Given the description of an element on the screen output the (x, y) to click on. 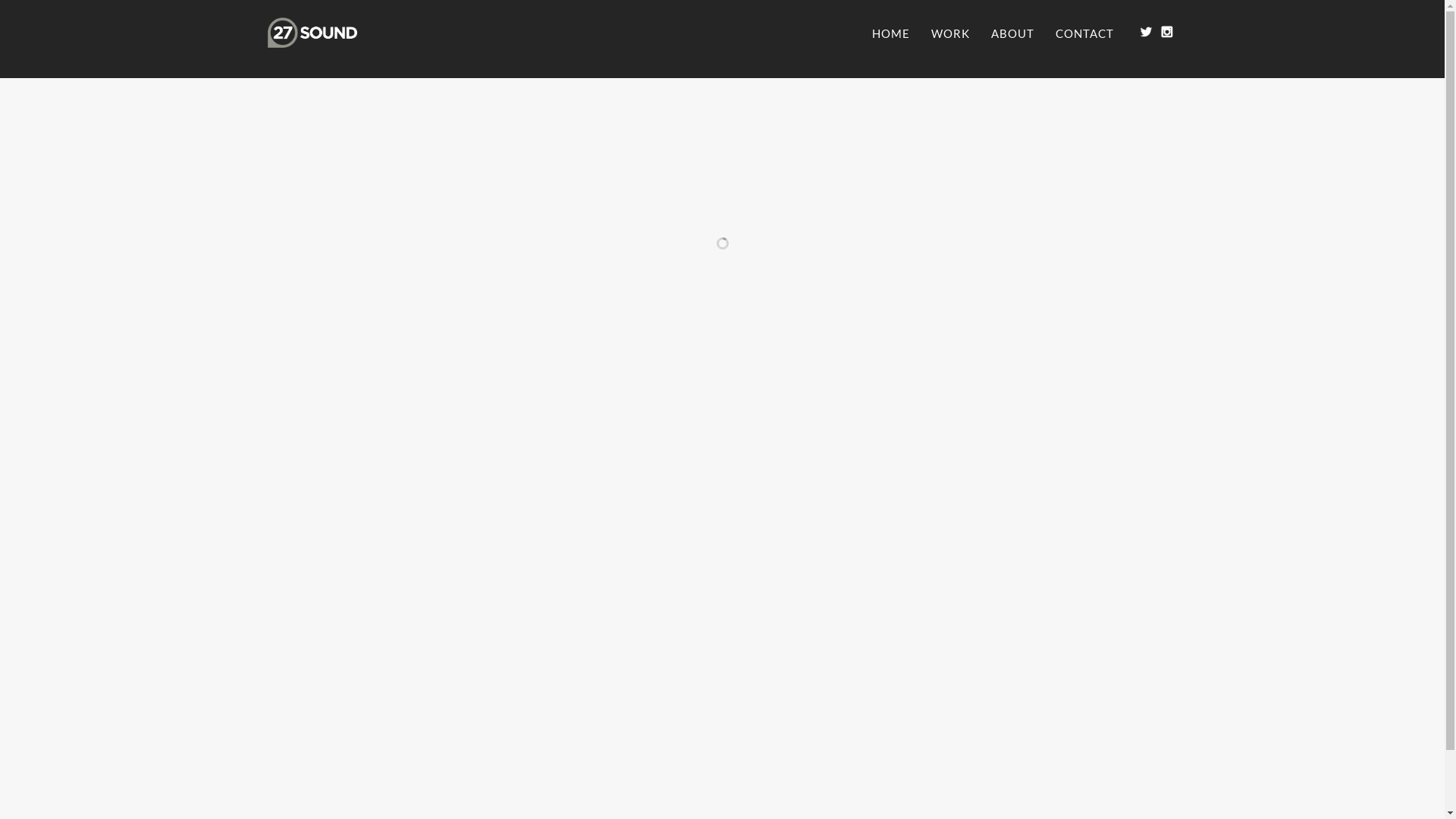
27 Sound on Instagram Element type: hover (1166, 30)
27 Sound on Twitter Element type: hover (1144, 30)
CONTACT Element type: text (1084, 33)
HOME Element type: text (890, 33)
WORK Element type: text (950, 33)
ABOUT Element type: text (1011, 33)
